Given the description of an element on the screen output the (x, y) to click on. 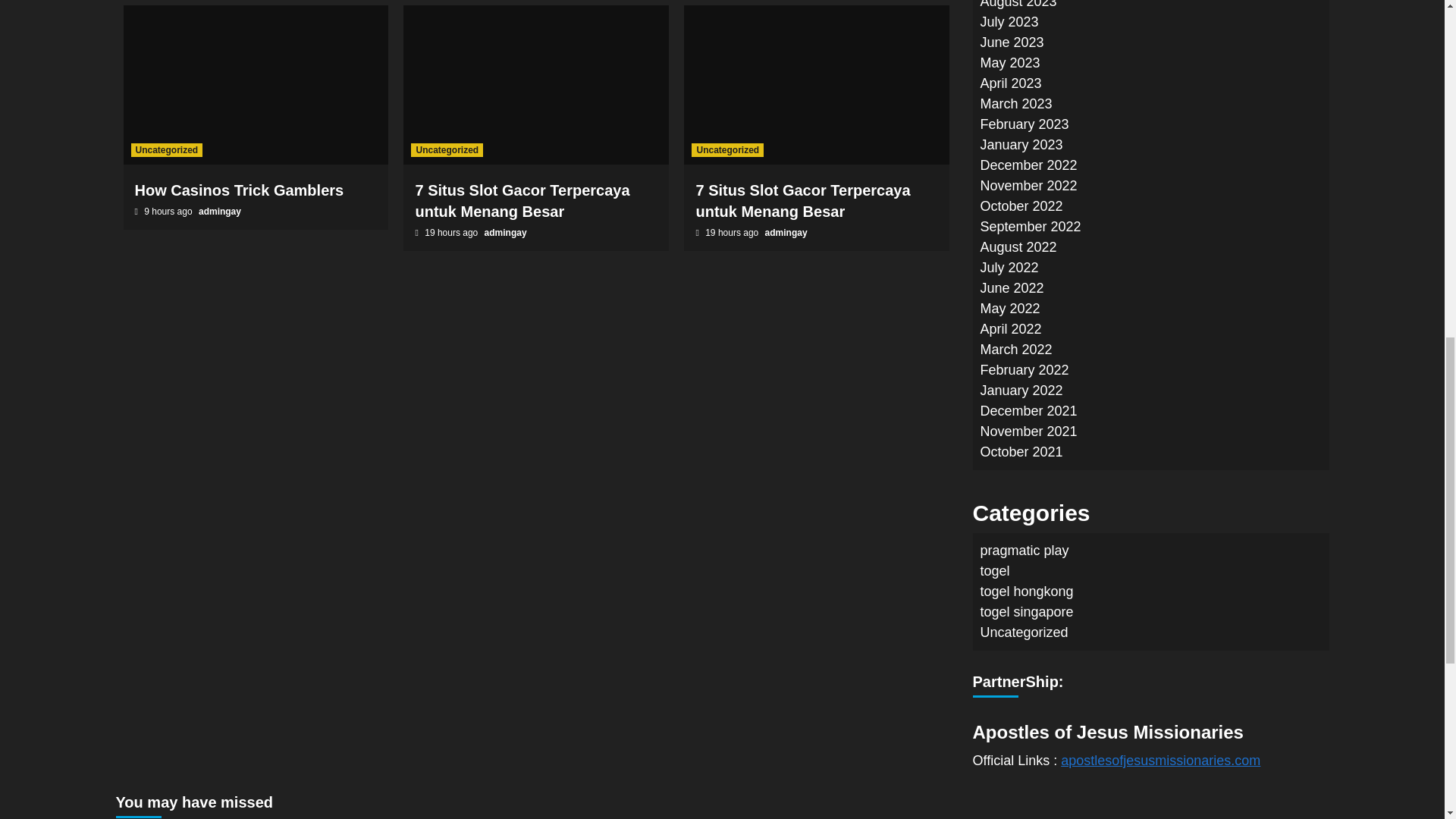
Uncategorized (726, 150)
Uncategorized (166, 150)
How Casinos Trick Gamblers (239, 190)
7 Situs Slot Gacor Terpercaya untuk Menang Besar (521, 200)
admingay (219, 211)
admingay (786, 232)
admingay (505, 232)
7 Situs Slot Gacor Terpercaya untuk Menang Besar (802, 200)
Uncategorized (446, 150)
